Given the description of an element on the screen output the (x, y) to click on. 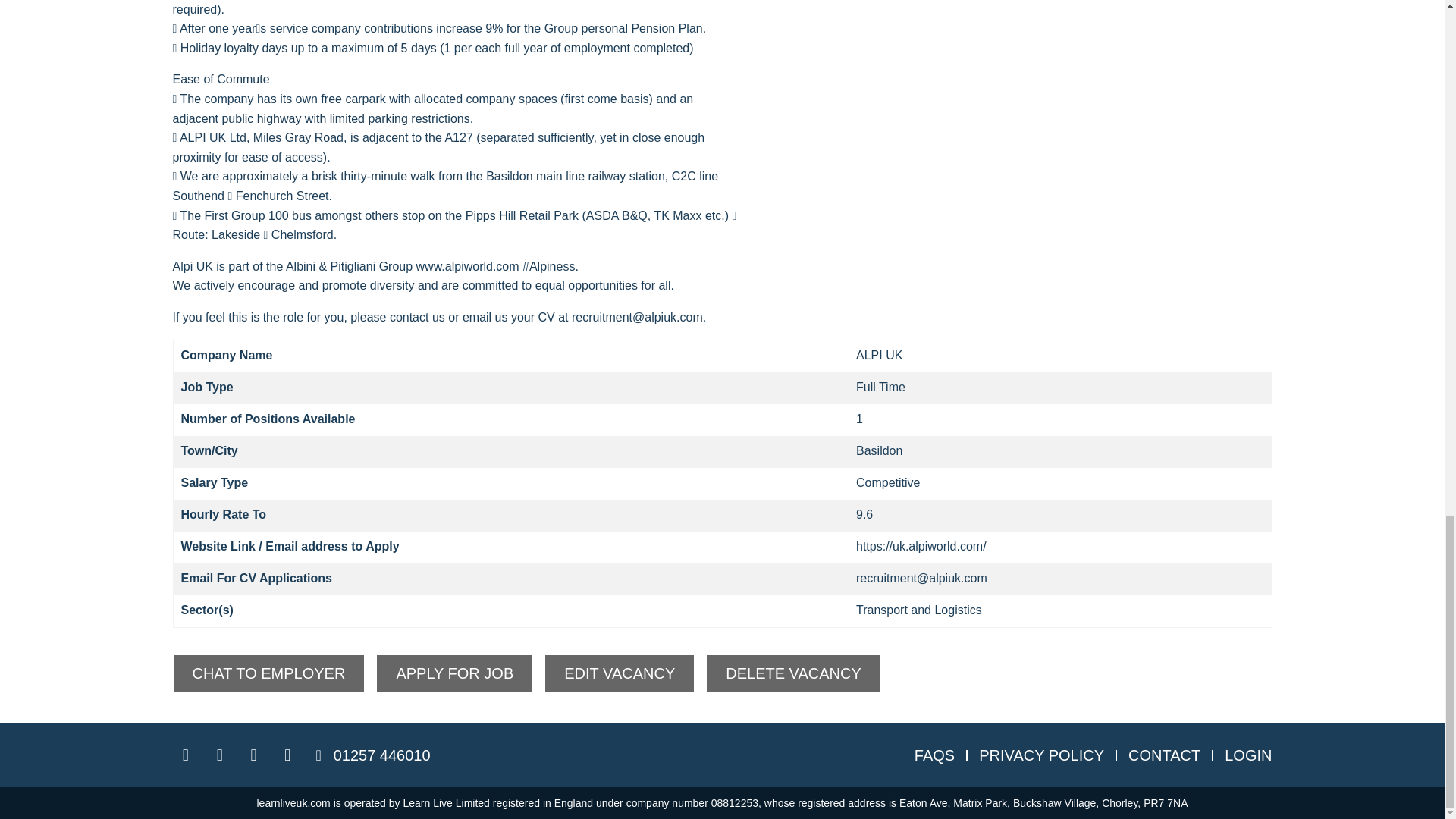
EDIT VACANCY (619, 673)
APPLY FOR JOB (453, 673)
CHAT TO EMPLOYER (269, 673)
DELETE VACANCY (793, 673)
